Given the description of an element on the screen output the (x, y) to click on. 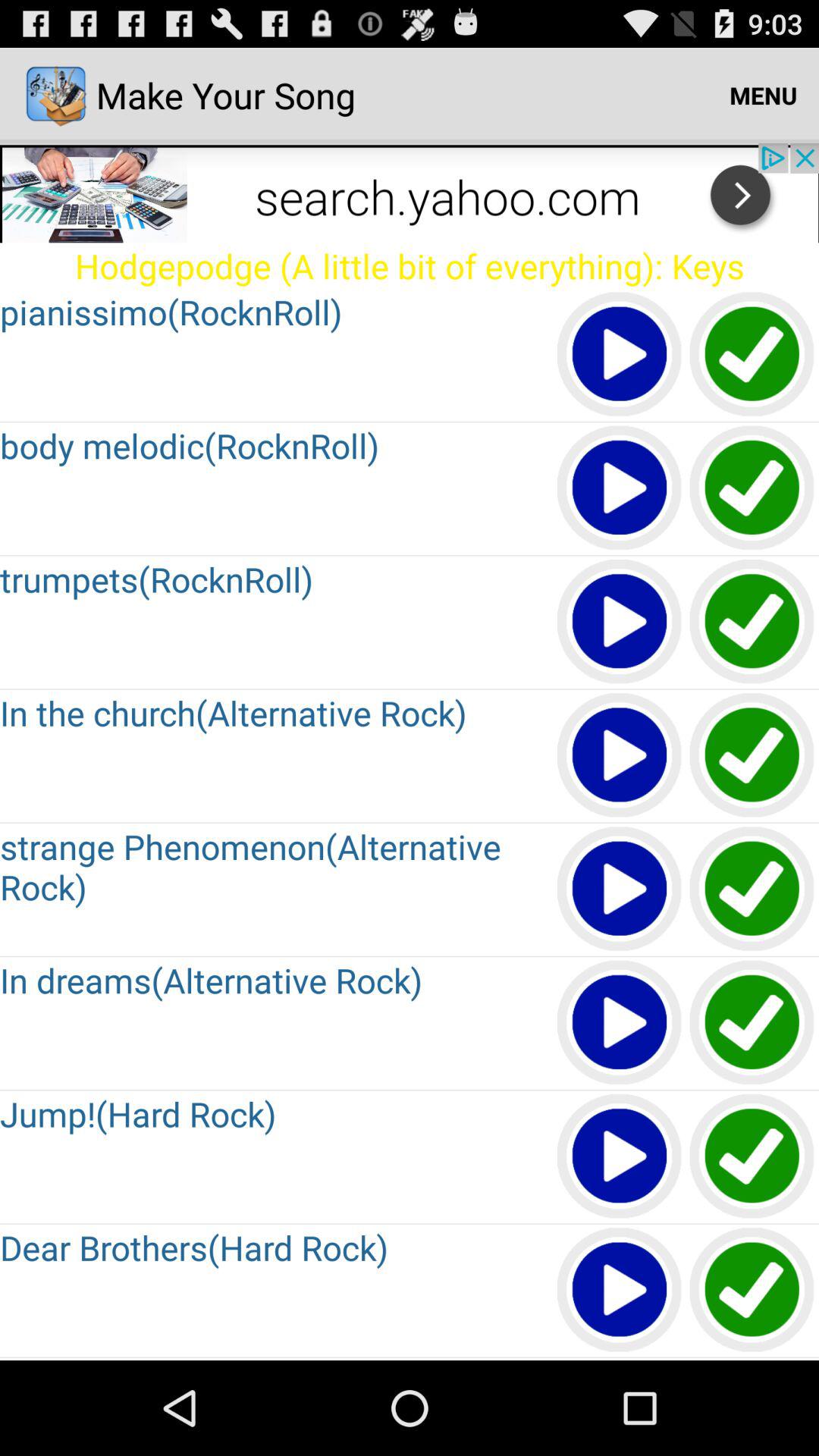
select jump (752, 1156)
